Given the description of an element on the screen output the (x, y) to click on. 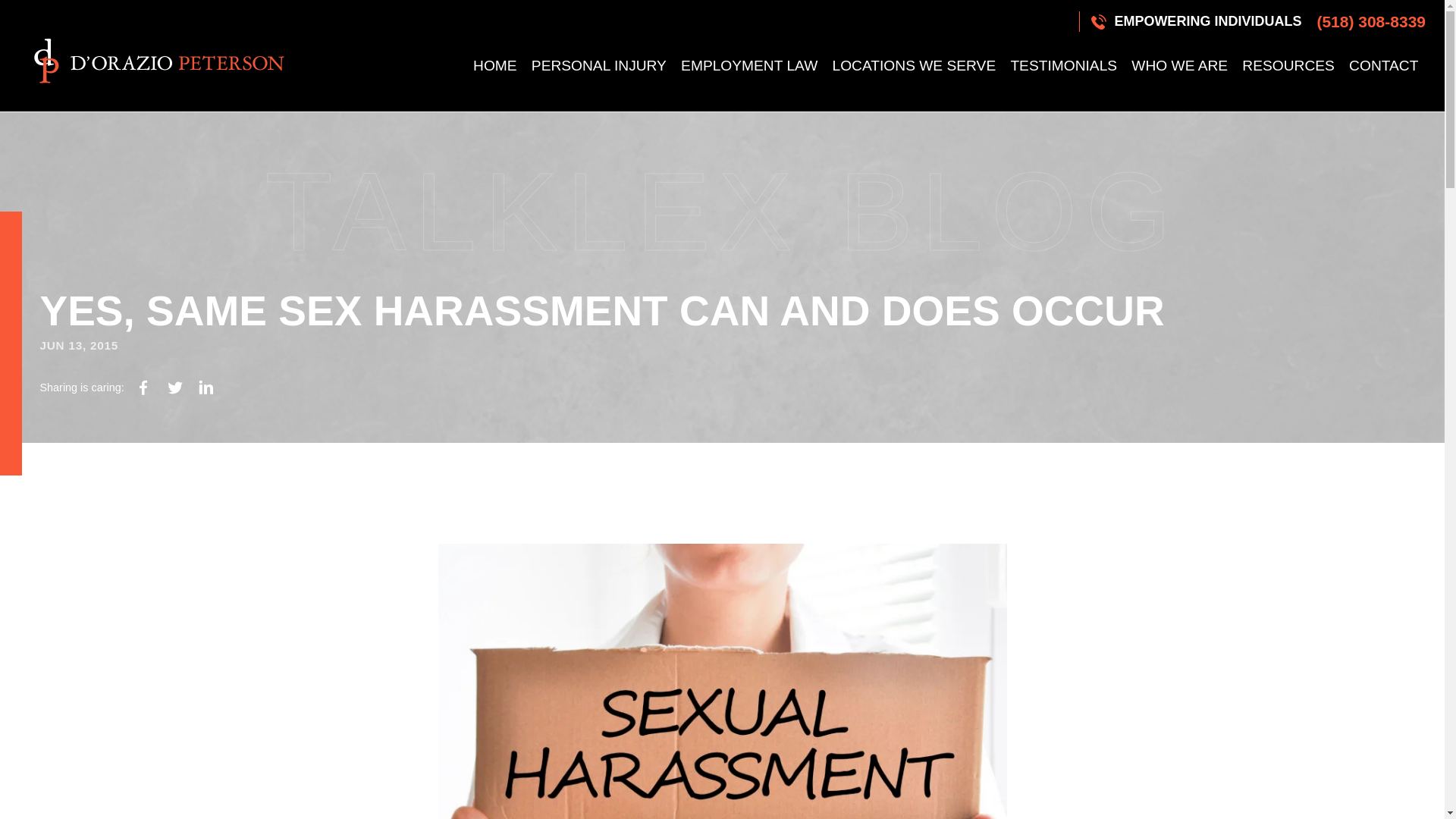
PERSONAL INJURY (598, 65)
EMPLOYMENT LAW (748, 65)
Share on Facebook (143, 387)
HOME (494, 65)
Share on LinkedIn (206, 387)
Share on Twitter (174, 387)
